Given the description of an element on the screen output the (x, y) to click on. 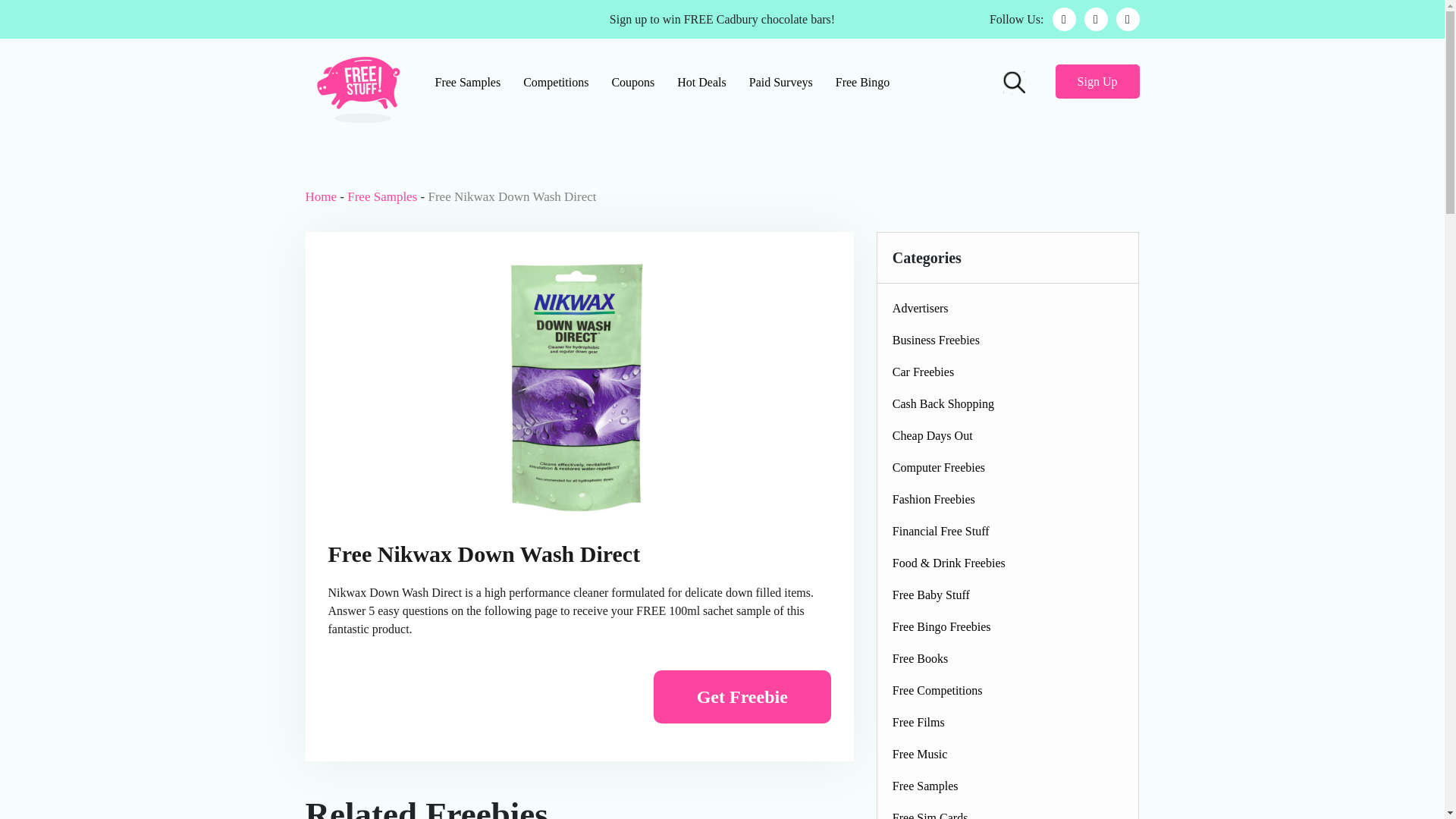
Free Bingo (862, 82)
Coupons (632, 82)
Competitions (555, 82)
Paid Surveys (781, 82)
Hot Deals (700, 82)
Sign up to win FREE Cadbury chocolate bars! (722, 18)
Paid Surveys (781, 82)
Coupons (632, 82)
Hot Deals (700, 82)
Competitions (555, 82)
